Given the description of an element on the screen output the (x, y) to click on. 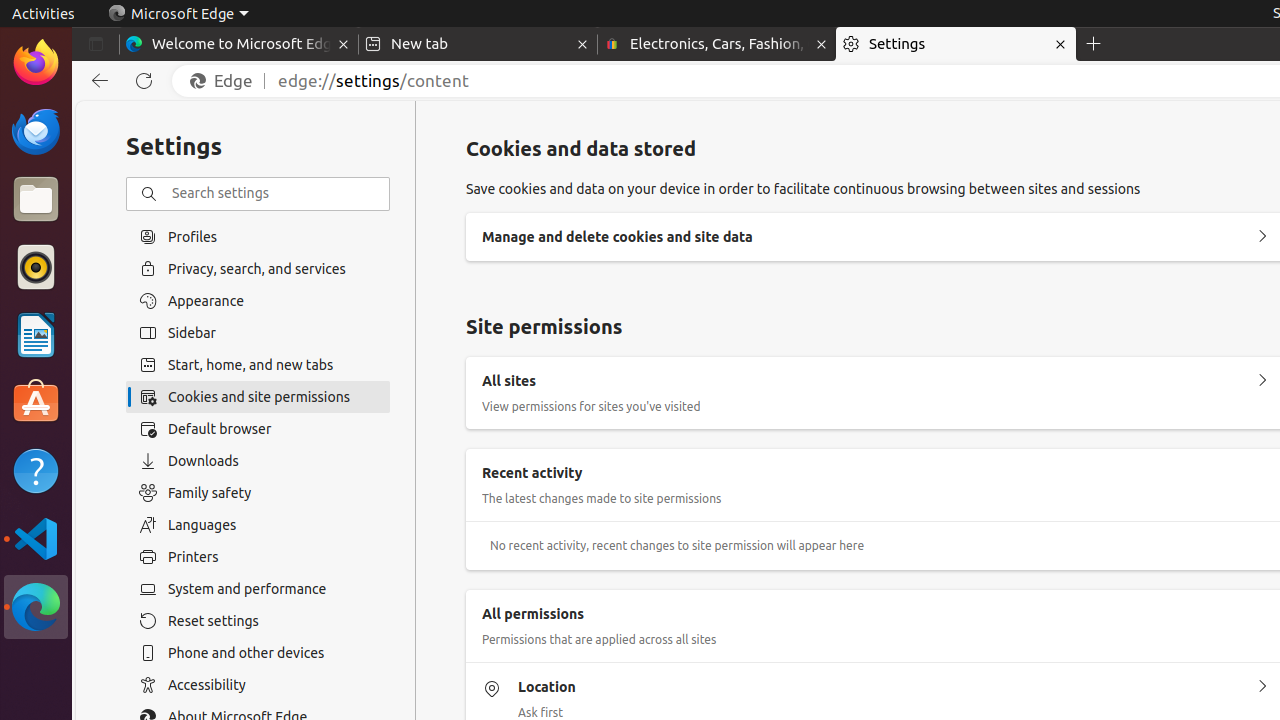
Back Element type: push-button (96, 81)
Help Element type: push-button (36, 470)
Cookies and site permissions Element type: tree-item (258, 397)
Appearance Element type: tree-item (258, 301)
Manage and delete cookies and site data Element type: push-button (1262, 236)
